Given the description of an element on the screen output the (x, y) to click on. 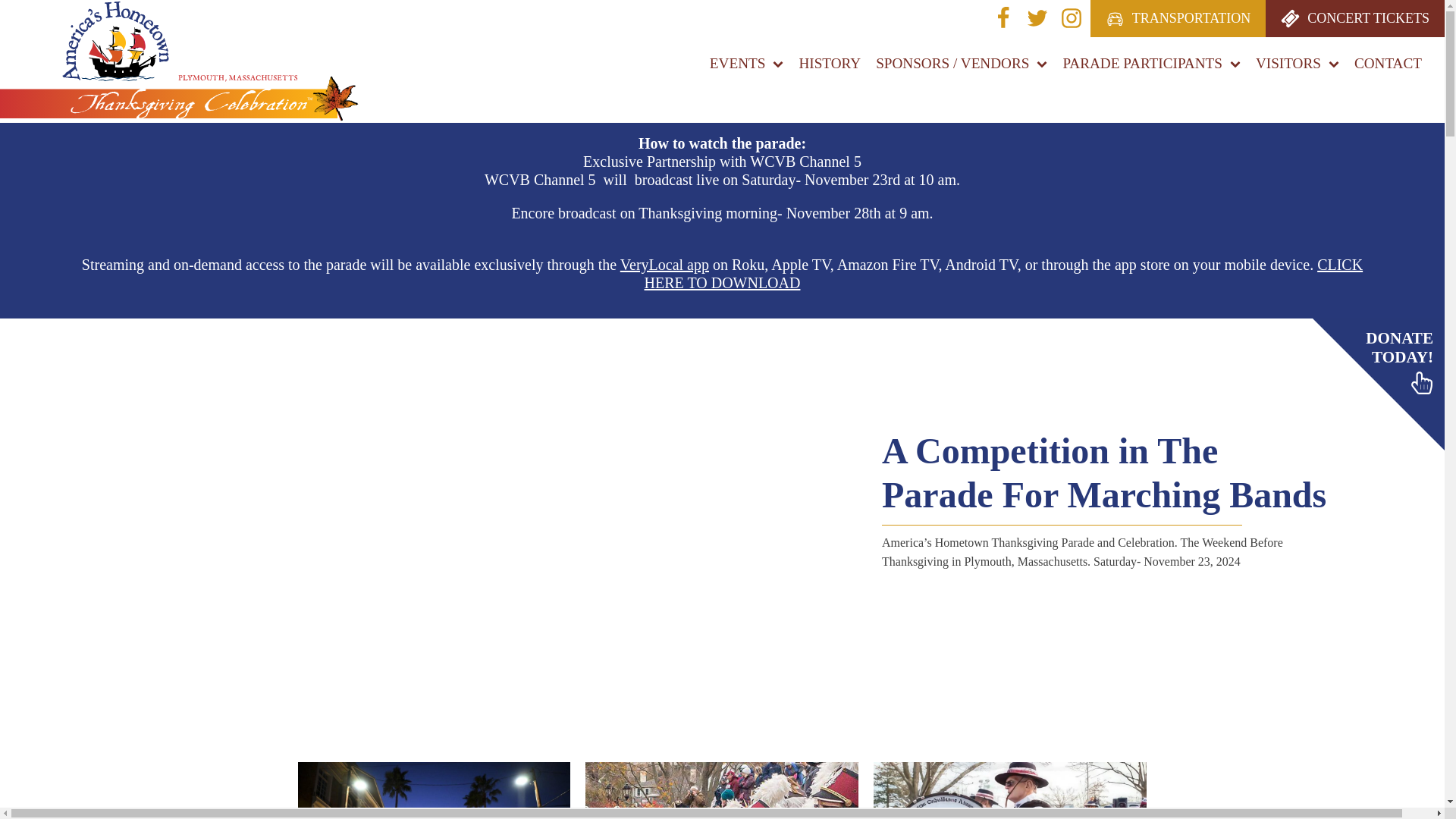
VISITORS (1297, 64)
HISTORY (828, 64)
VeryLocal app (664, 264)
TRANSPORTATION (1178, 18)
PARADE PARTICIPANTS (1151, 64)
CONTACT (1388, 64)
CONCERT TICKETS (1354, 18)
EVENTS (747, 64)
CLICK HERE TO DOWNLOAD (1003, 273)
